Given the description of an element on the screen output the (x, y) to click on. 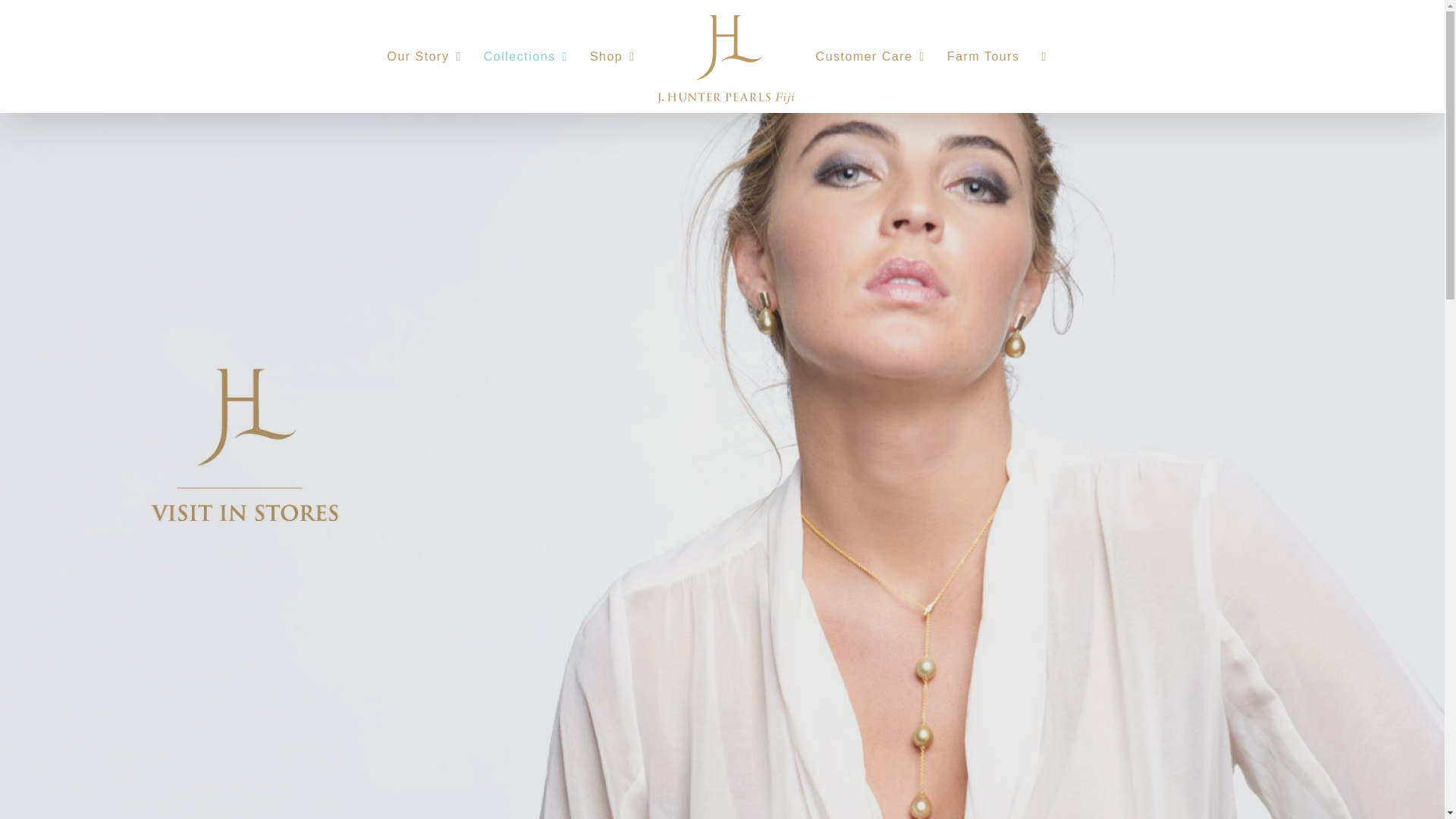
Shop (611, 56)
Farm Tours (983, 56)
Customer Care (869, 56)
Collections (525, 56)
Our Story (424, 56)
